Given the description of an element on the screen output the (x, y) to click on. 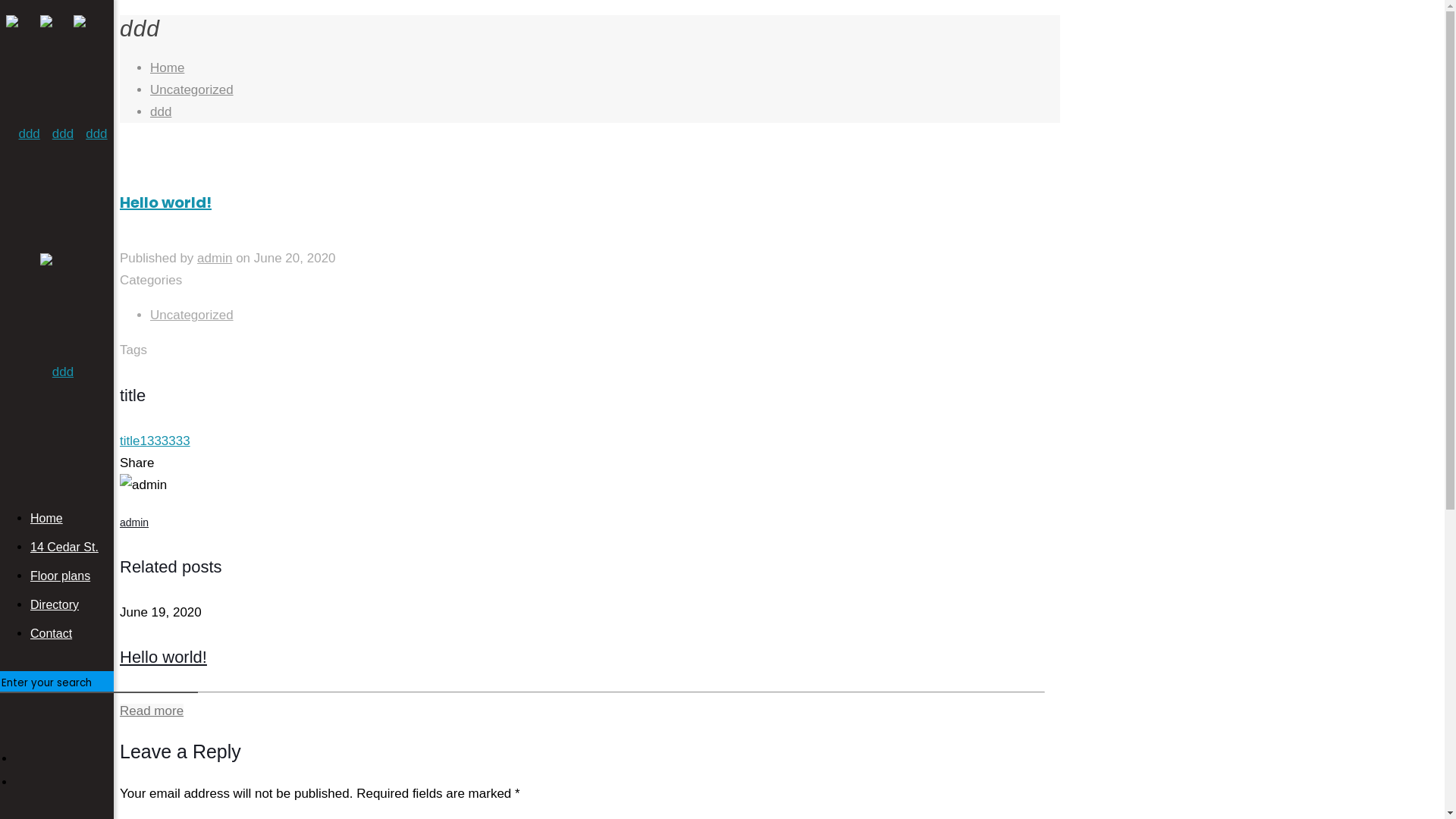
333333 Element type: text (168, 440)
Directory Element type: text (54, 604)
title1 Element type: text (133, 440)
Floor plans Element type: text (60, 575)
ddd Element type: text (160, 111)
14 Cedar St. Element type: text (64, 546)
admin Element type: text (133, 522)
Contact Element type: text (51, 633)
Home Element type: text (167, 67)
Uncategorized Element type: text (191, 89)
Uncategorized Element type: text (191, 314)
Hello world! Element type: text (163, 656)
admin Element type: text (214, 258)
Home Element type: text (46, 517)
14 Cedar Street Studios Office Rentals Element type: hover (56, 252)
Read more Element type: text (151, 710)
Hello world! Element type: text (589, 229)
